Given the description of an element on the screen output the (x, y) to click on. 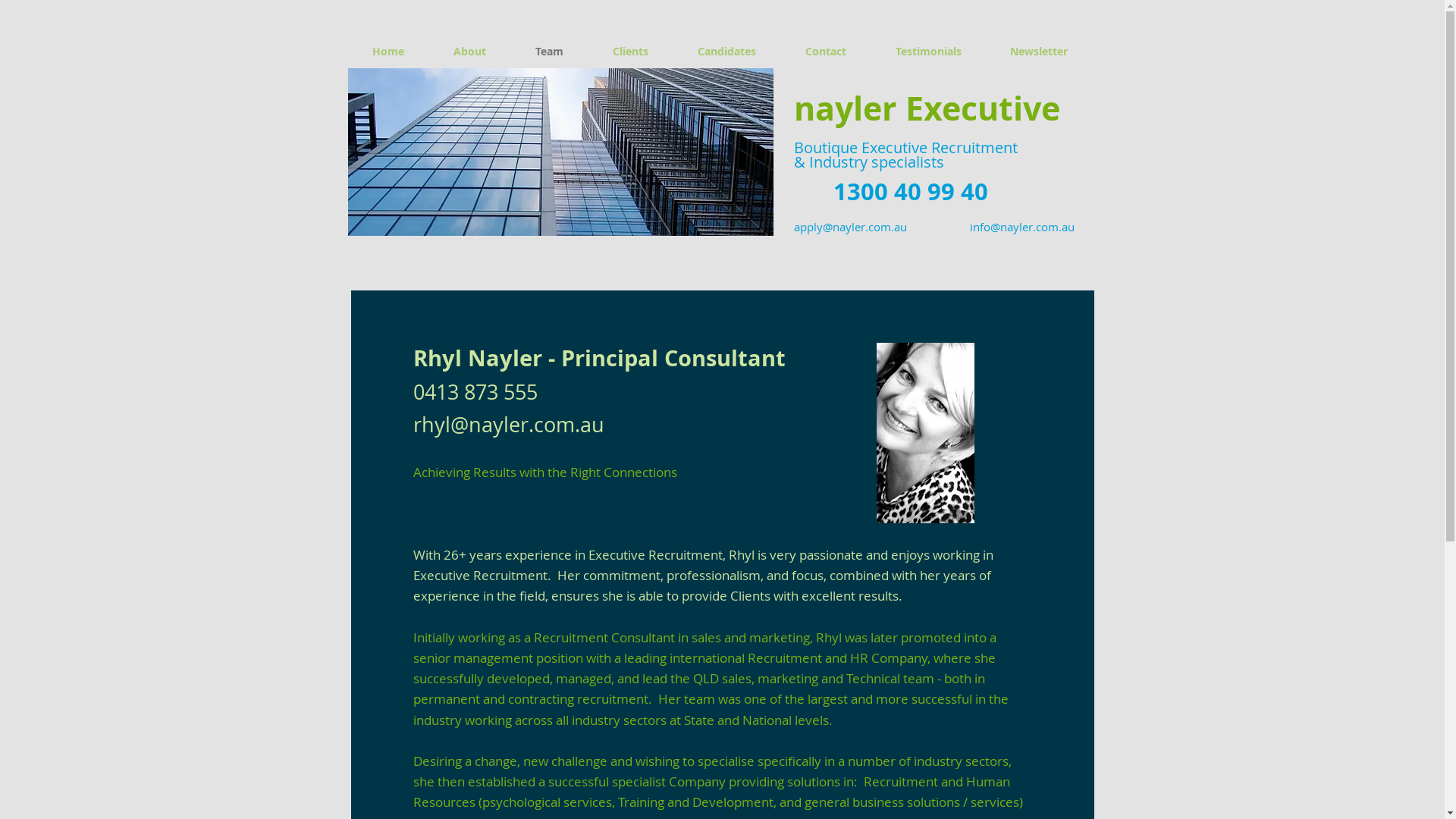
Contact Element type: text (826, 50)
About Element type: text (470, 50)
apply@nayler.com.au Element type: text (849, 226)
Clients Element type: text (630, 50)
Team Element type: text (549, 50)
Newsletter Element type: text (1038, 50)
rhyl@nayler.com.au Element type: text (507, 424)
Candidates Element type: text (727, 50)
info@nayler.com.au Element type: text (1021, 226)
Home Element type: text (387, 50)
Testimonials Element type: text (927, 50)
